Given the description of an element on the screen output the (x, y) to click on. 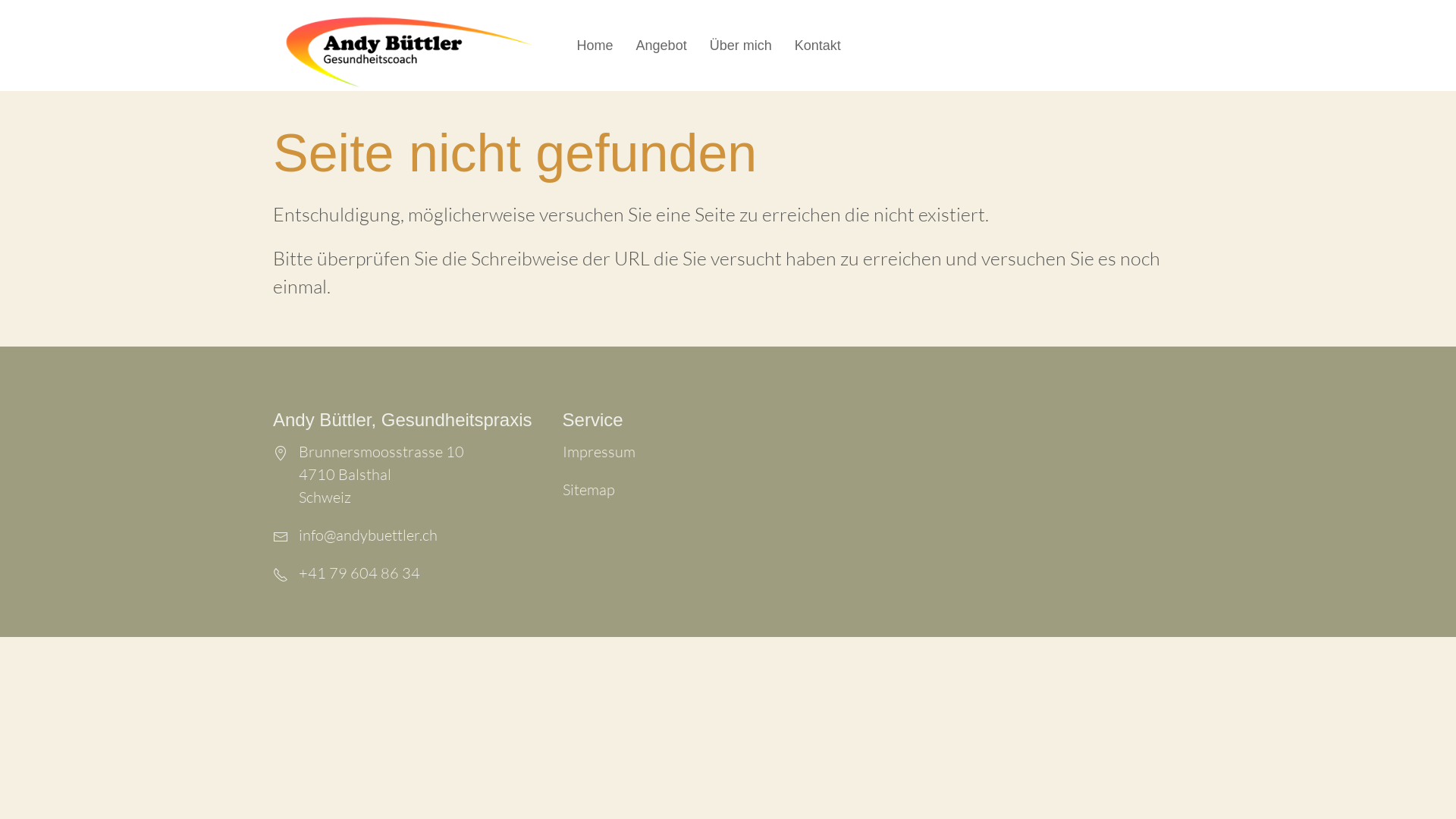
Impressum Element type: text (598, 451)
Brunnersmoosstrasse 10
4710 Balsthal
Schweiz Element type: text (400, 451)
Home Element type: hover (419, 52)
Home Element type: text (594, 45)
Sitemap Element type: text (588, 489)
Kontakt Element type: text (817, 45)
Angebot Element type: text (661, 45)
info@andybuettler.ch Element type: text (400, 534)
